Given the description of an element on the screen output the (x, y) to click on. 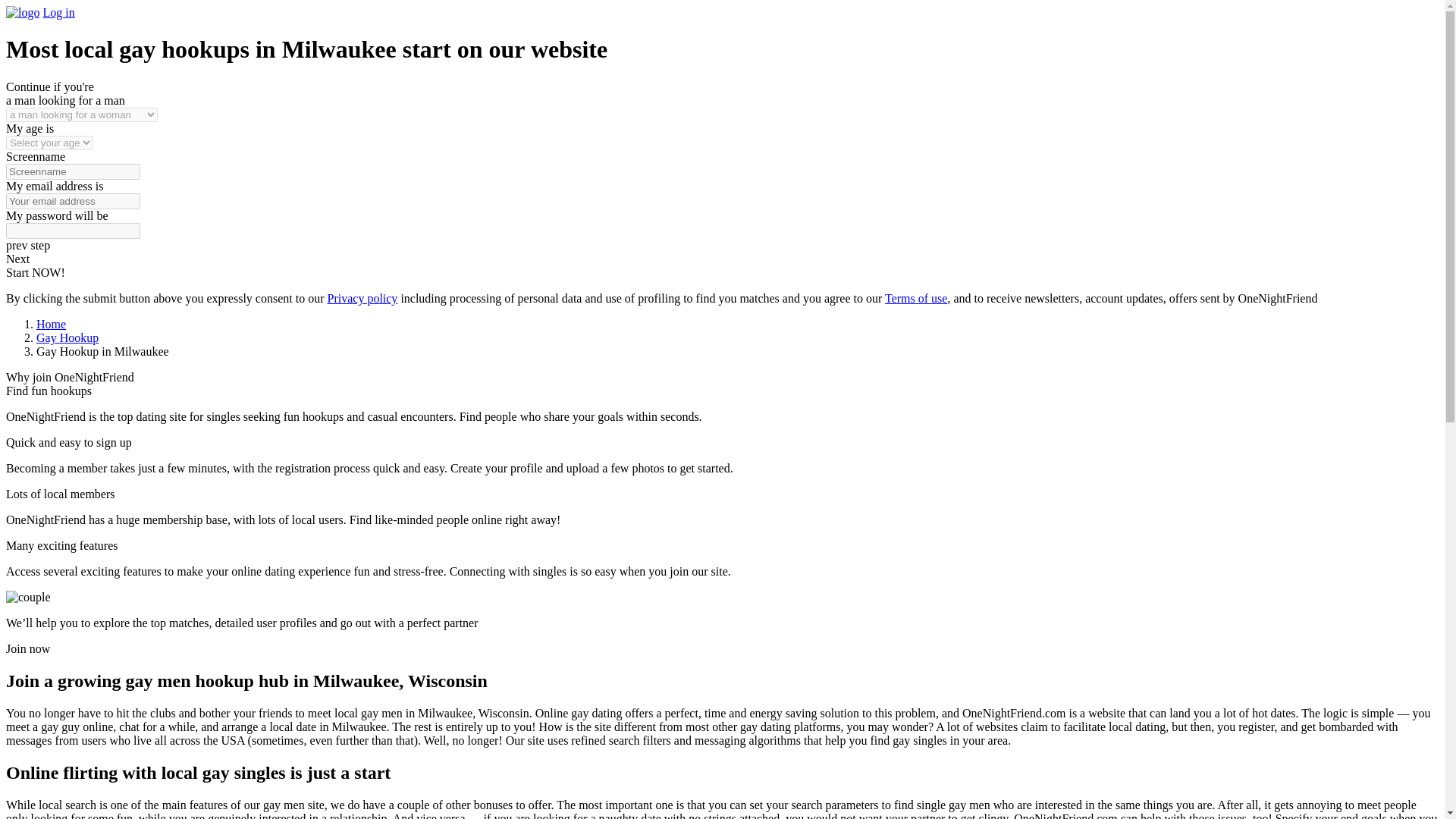
Home (50, 323)
Gay Hookup (67, 337)
Terms of use (916, 297)
Log in (58, 11)
Privacy policy (362, 297)
